Given the description of an element on the screen output the (x, y) to click on. 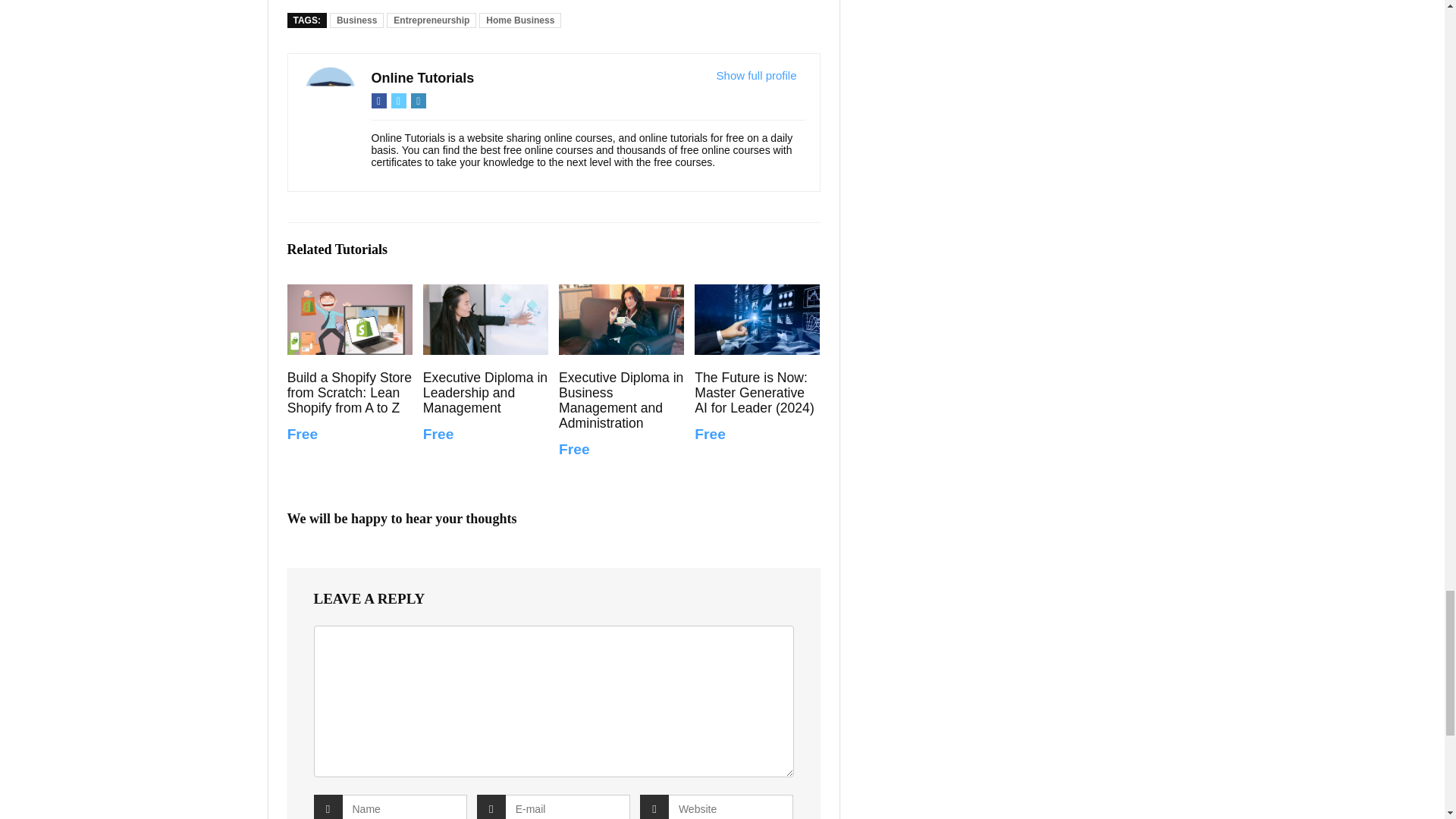
Build a Shopify Store from Scratch: Lean Shopify from A to Z (349, 319)
Executive Diploma in Leadership and Management (485, 319)
